Given the description of an element on the screen output the (x, y) to click on. 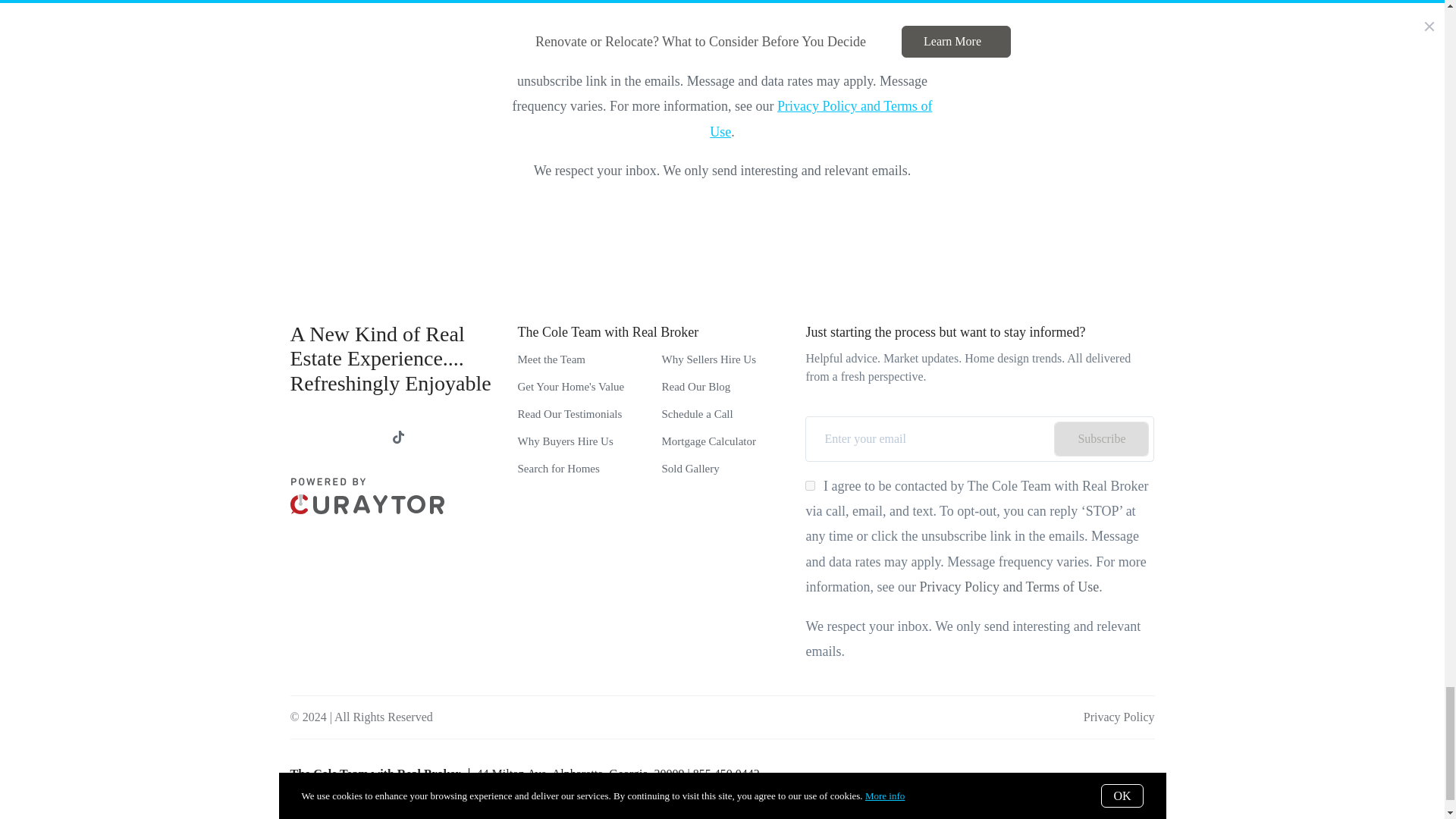
on (532, 30)
on (810, 485)
curaytor-horizontal (366, 495)
